Given the description of an element on the screen output the (x, y) to click on. 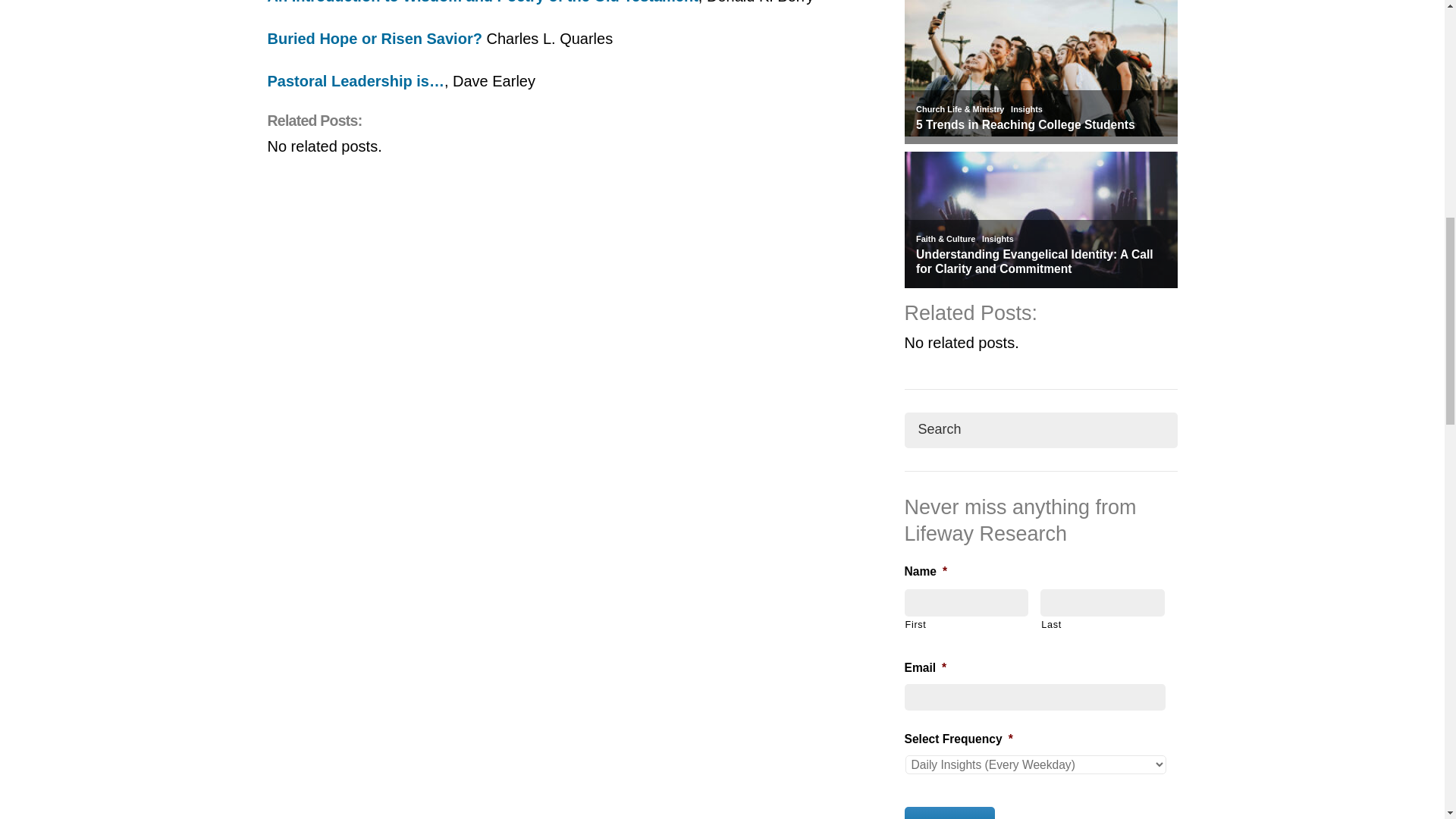
An Introduction to Wisdom and Poetry of the Old Testament (481, 2)
Buried Hope or Risen Savior? (373, 38)
Submit (949, 812)
